Given the description of an element on the screen output the (x, y) to click on. 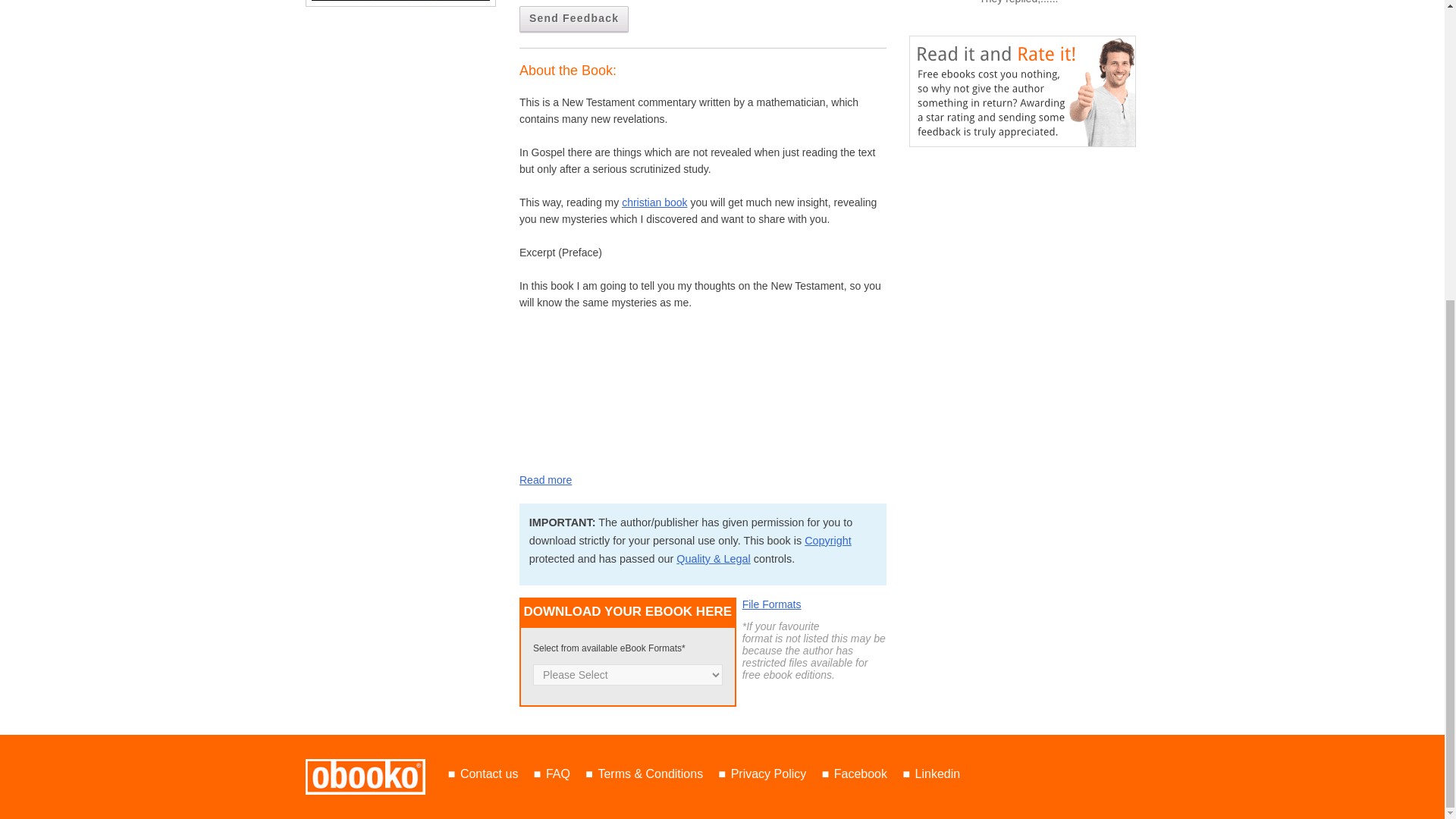
Get in touch with obooko (489, 773)
christian book (654, 202)
Common Questions and Answers (558, 773)
Contact us (489, 773)
Checked for Quality (714, 558)
Linkedin (937, 773)
Copyright (828, 540)
Obooko Logo (364, 776)
Facebook (860, 773)
Send Feedback (573, 18)
FAQ (558, 773)
Send Feedback (573, 18)
Online Privacy and the use of Cookies (768, 773)
Obooko Facebook (860, 773)
